Given the description of an element on the screen output the (x, y) to click on. 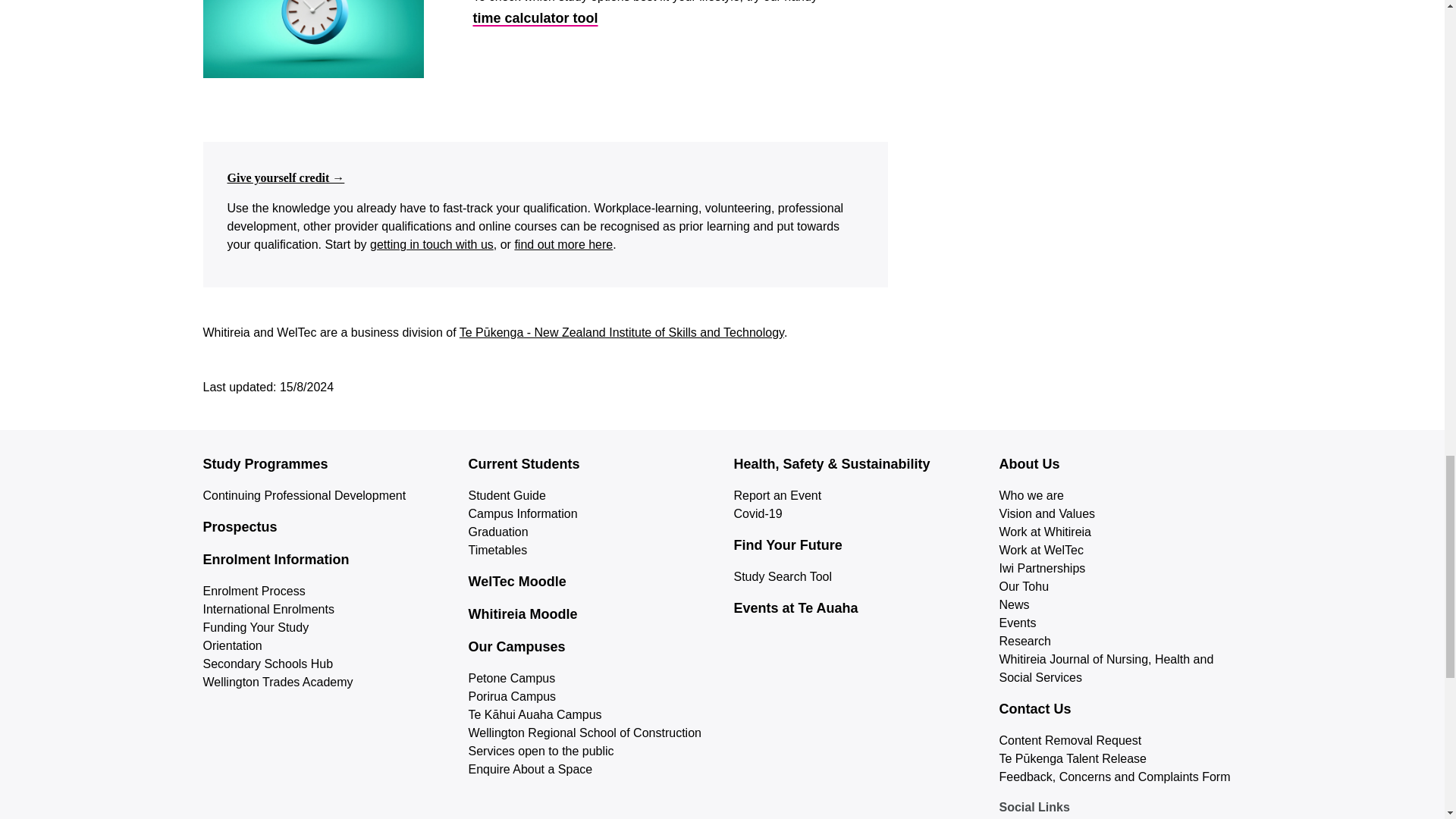
time calculator tool (533, 17)
getting in touch with us (431, 244)
find out more here (562, 244)
